Given the description of an element on the screen output the (x, y) to click on. 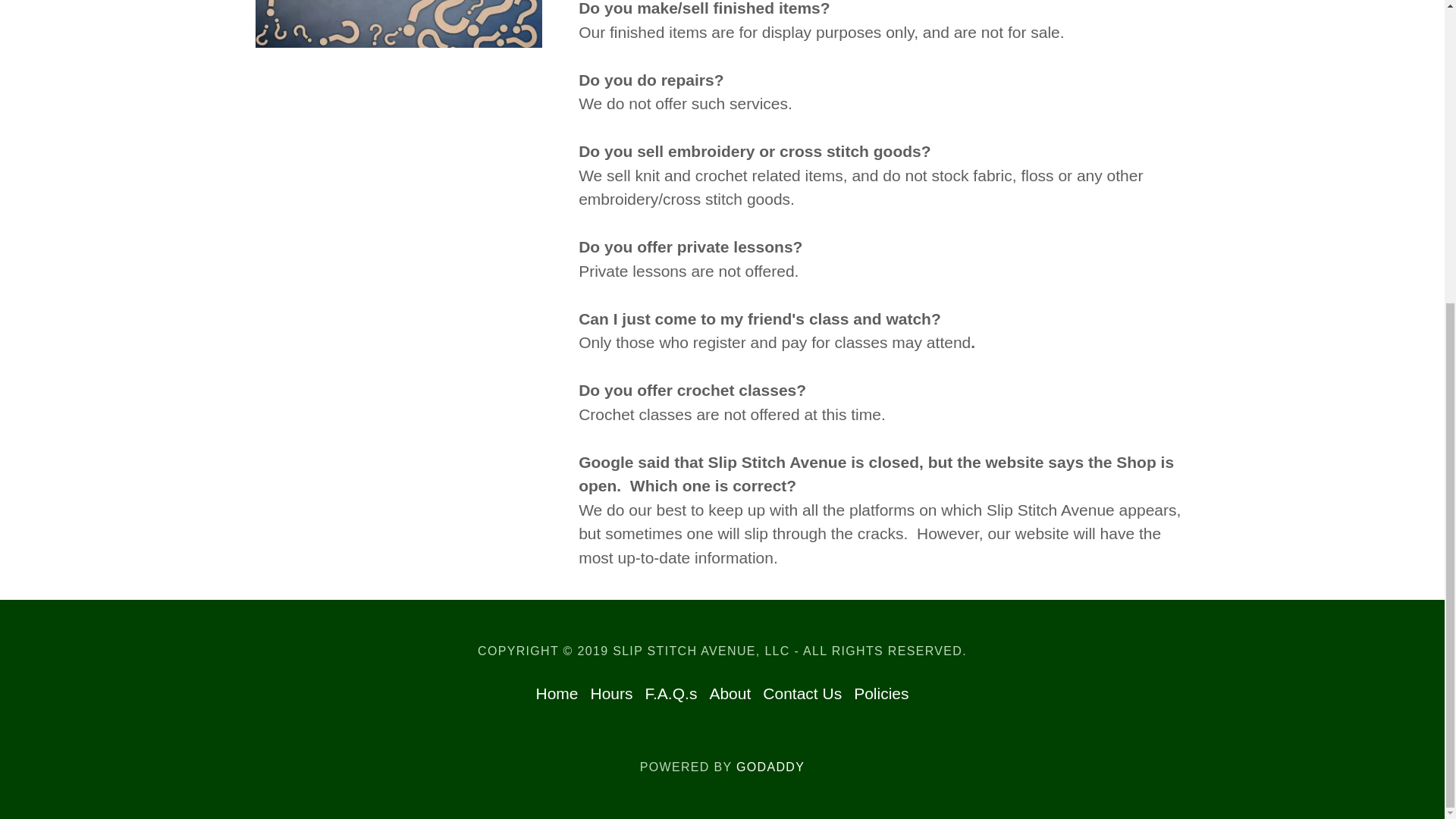
About (730, 693)
Hours (611, 693)
Contact Us (802, 693)
F.A.Q.s (671, 693)
Policies (880, 693)
Home (556, 693)
GODADDY (770, 766)
